Given the description of an element on the screen output the (x, y) to click on. 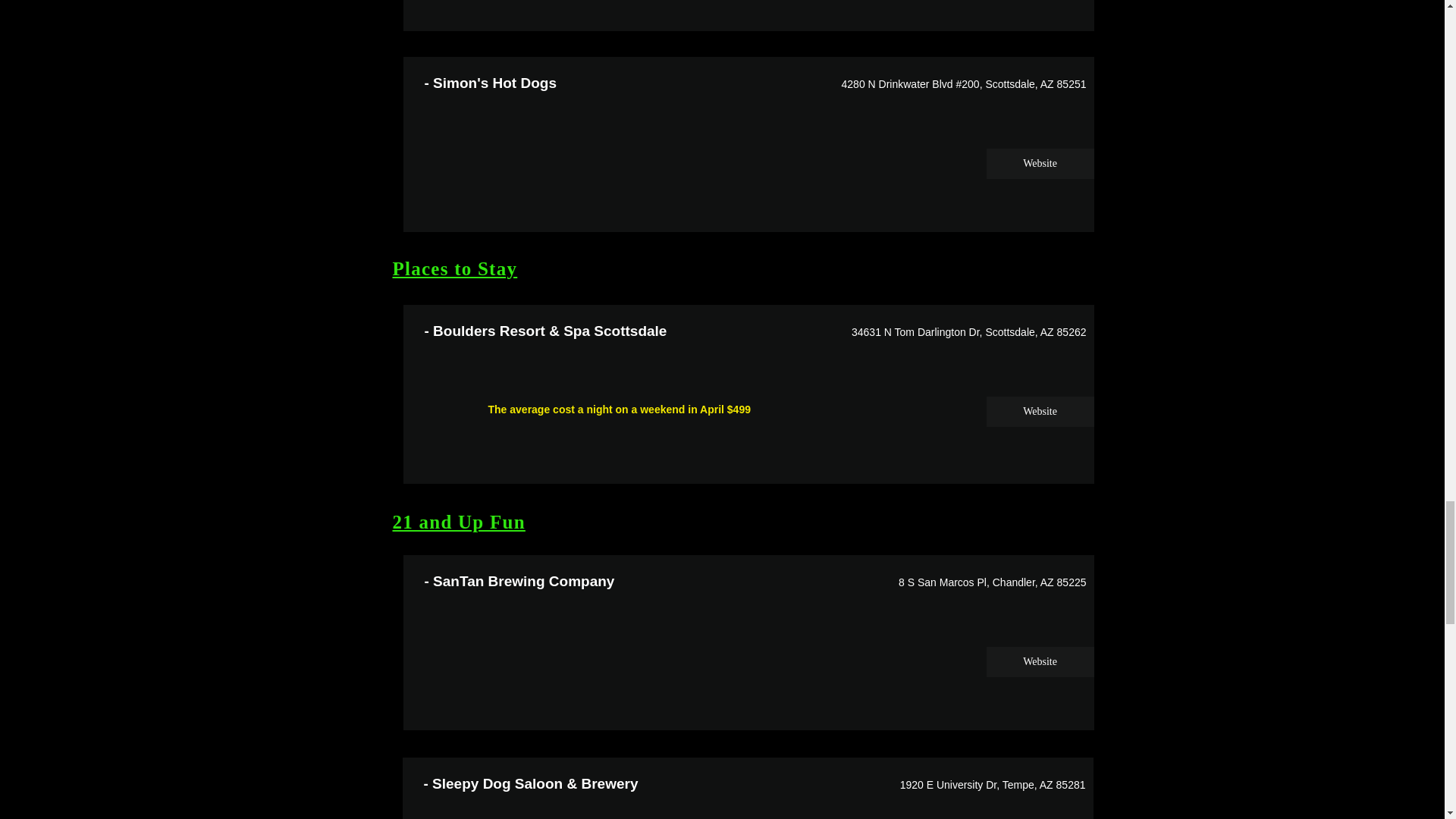
Website (1039, 411)
Website (1039, 163)
Website (1039, 662)
